Given the description of an element on the screen output the (x, y) to click on. 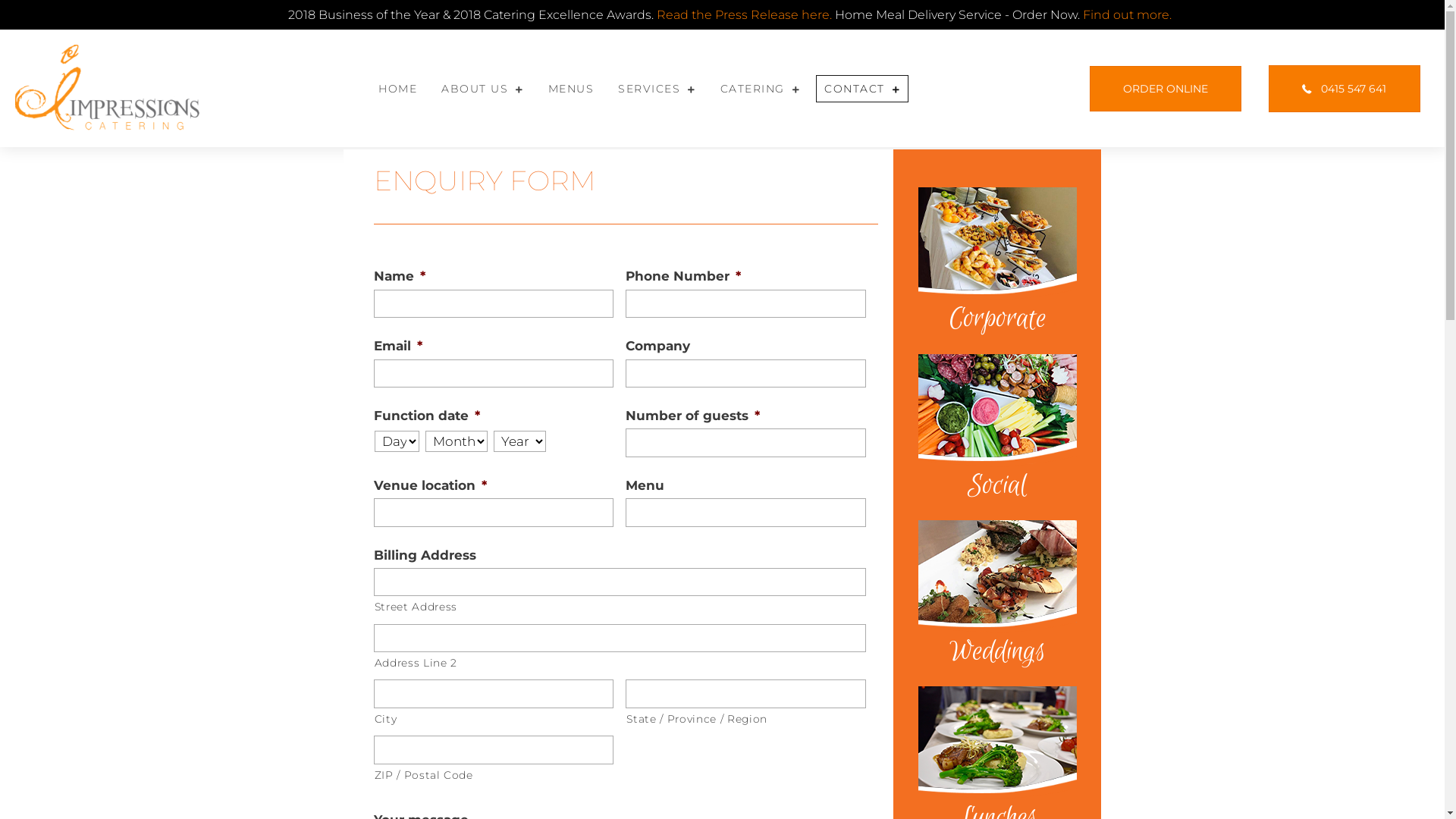
Find out more. Element type: text (1126, 14)
HOME Element type: text (397, 88)
Weddings Element type: text (997, 651)
Read the Press Release here. Element type: text (745, 14)
Corporate Element type: text (997, 318)
MENUS Element type: text (570, 88)
CATERING Element type: text (760, 88)
Social Element type: text (997, 485)
impressions-Catering-Logo Element type: hover (107, 87)
SERVICES Element type: text (656, 88)
ABOUT US Element type: text (482, 88)
social-catering Element type: hover (997, 410)
corporate-catering-perth Element type: hover (997, 576)
CONTACT Element type: text (861, 88)
Corporate-Catering Element type: hover (997, 243)
ORDER ONLINE Element type: text (1165, 88)
Catered-lunches Element type: hover (997, 742)
0415 547 641 Element type: text (1344, 88)
